Given the description of an element on the screen output the (x, y) to click on. 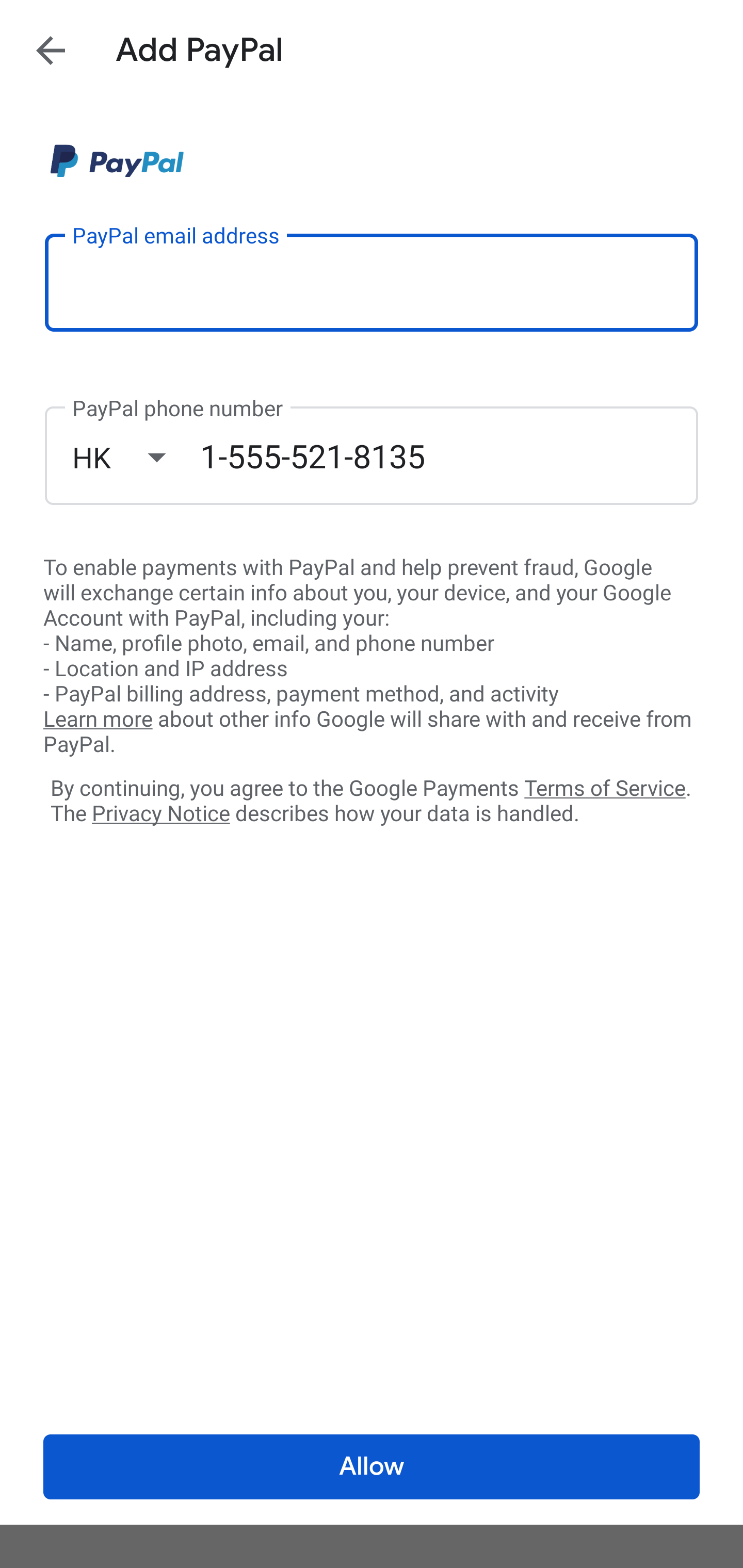
Navigate up (50, 50)
PayPal email address (371, 282)
HK (135, 456)
Learn more (97, 719)
Terms of Service (604, 787)
Privacy Notice (160, 814)
Allow (371, 1466)
